Given the description of an element on the screen output the (x, y) to click on. 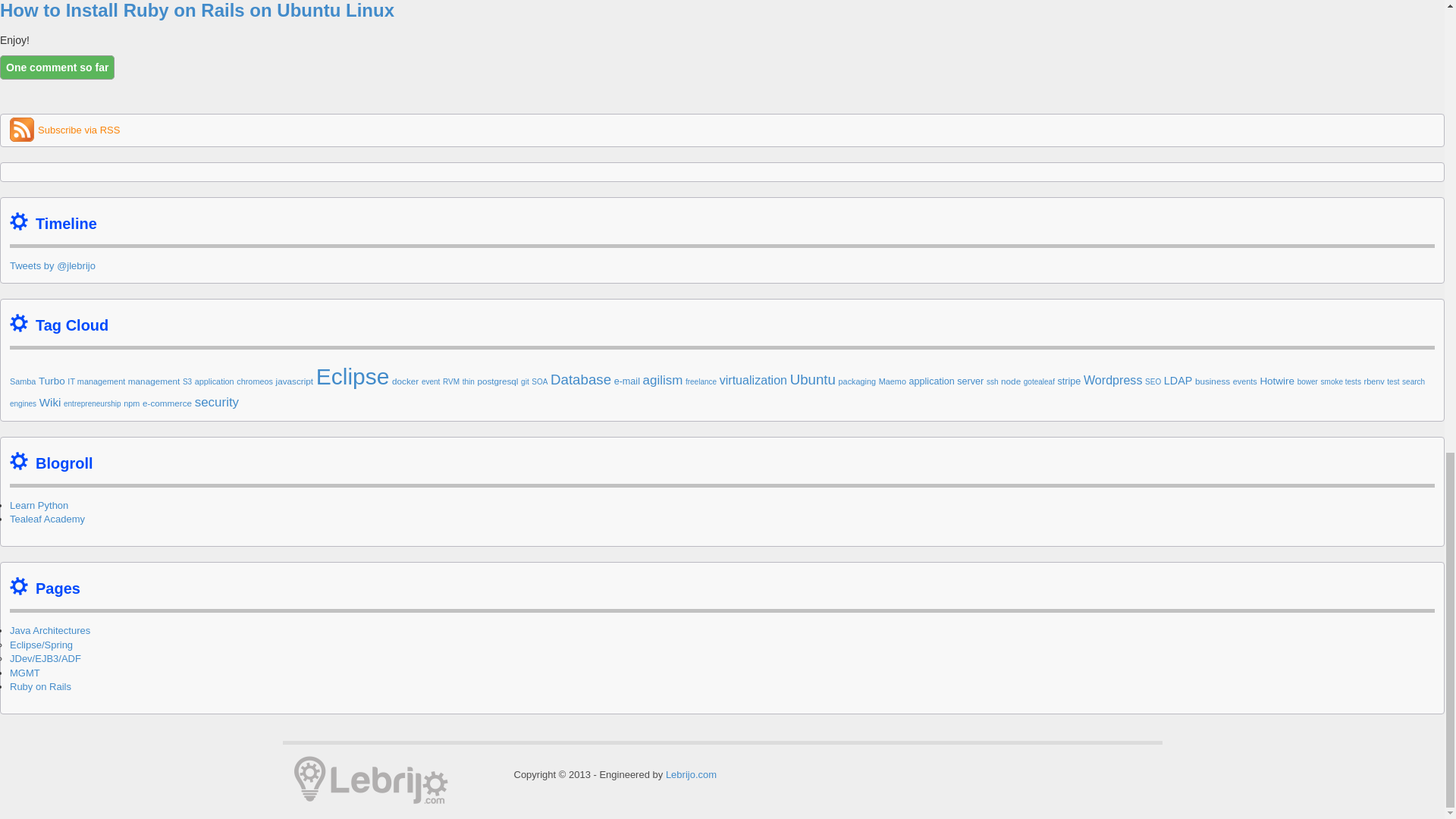
2 topics (22, 380)
How to Install Ruby on Rails on Ubuntu Linux (197, 10)
